Given the description of an element on the screen output the (x, y) to click on. 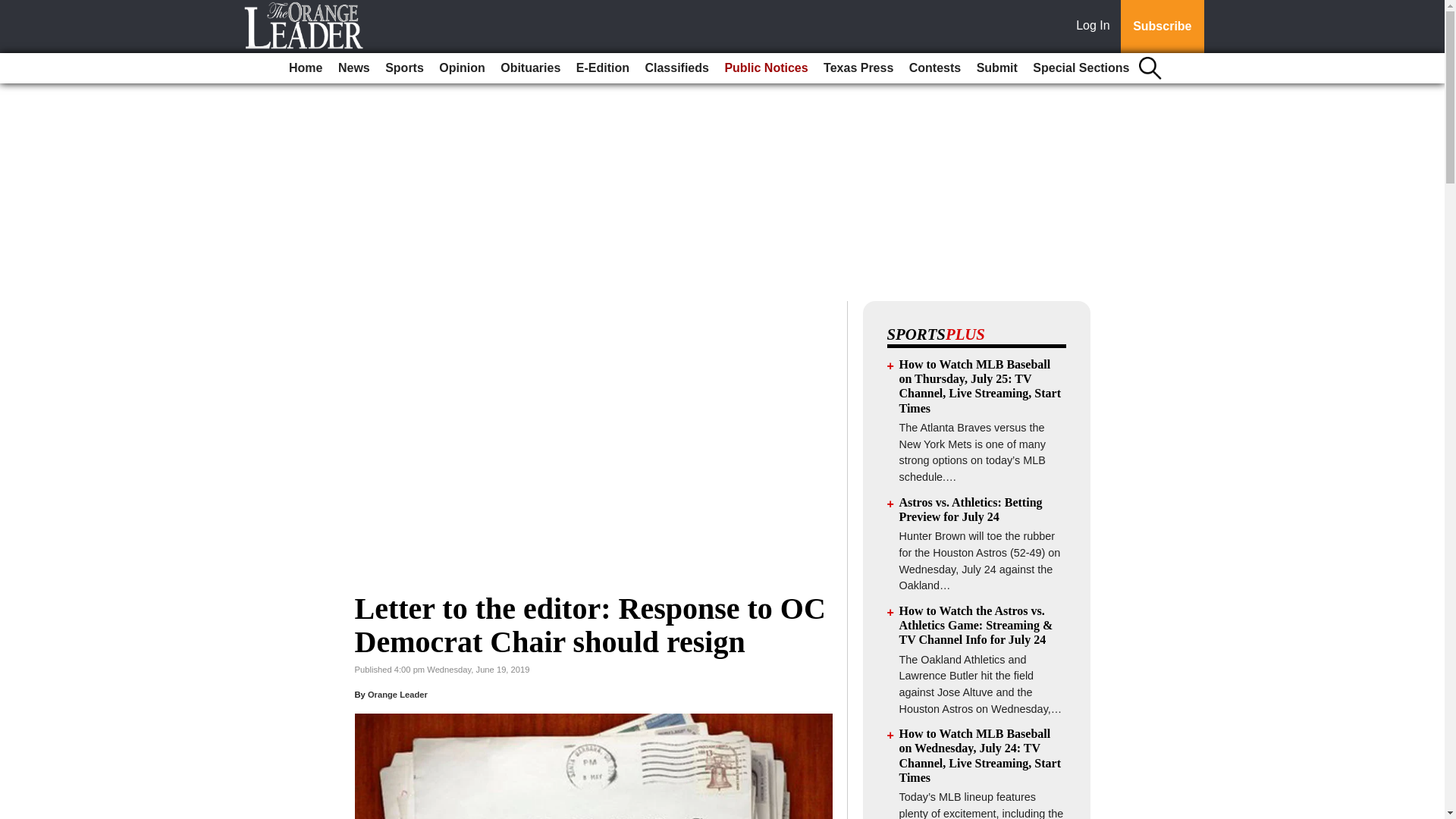
Contests (934, 68)
Obituaries (530, 68)
Astros vs. Athletics: Betting Preview for July 24 (970, 509)
Public Notices (765, 68)
Special Sections (1080, 68)
Subscribe (1162, 26)
E-Edition (602, 68)
Log In (1095, 26)
News (353, 68)
Opinion (461, 68)
Orange Leader (398, 694)
Home (305, 68)
Sports (403, 68)
Texas Press (857, 68)
